Given the description of an element on the screen output the (x, y) to click on. 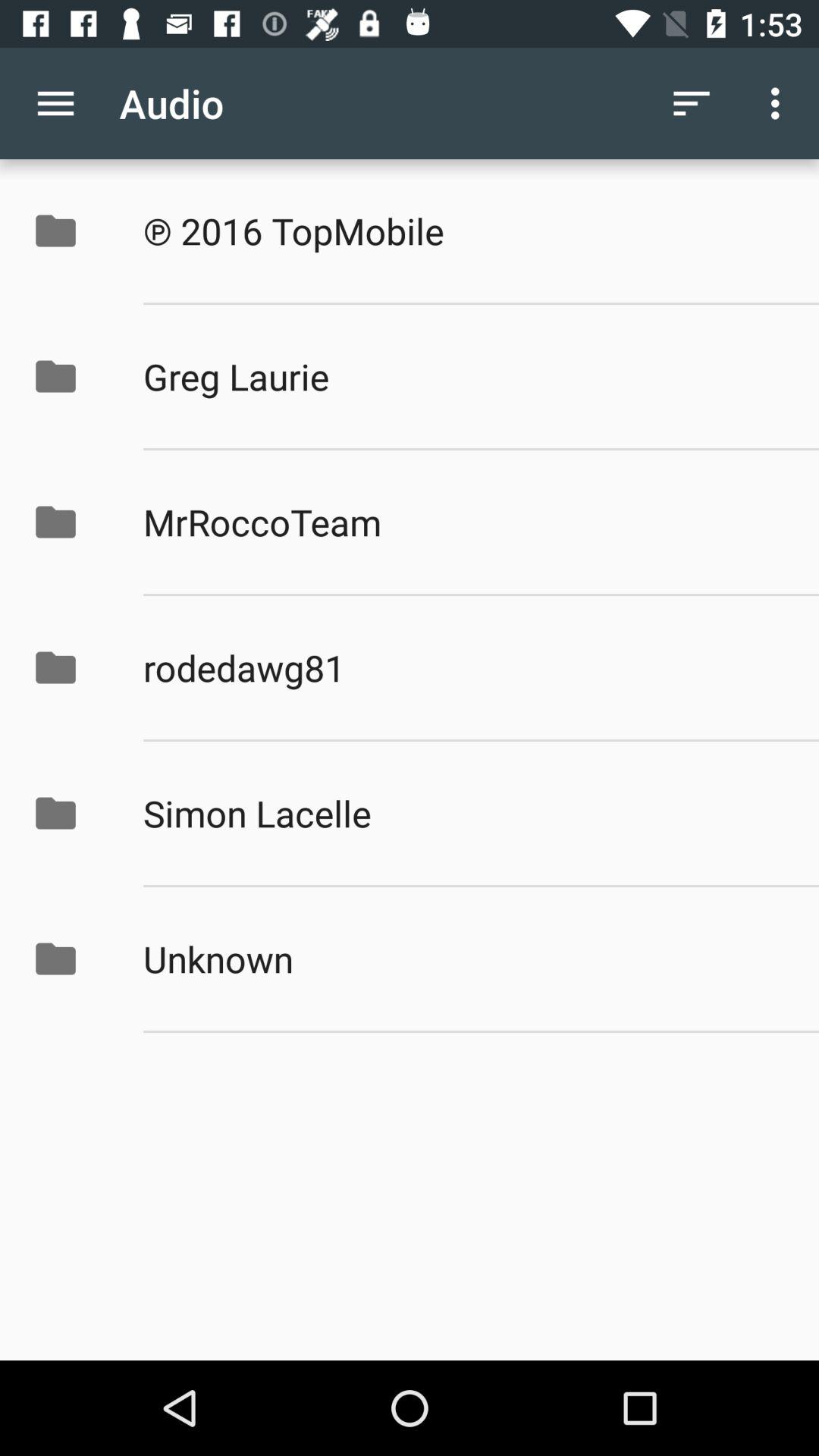
select rodedawg81 item (465, 667)
